Given the description of an element on the screen output the (x, y) to click on. 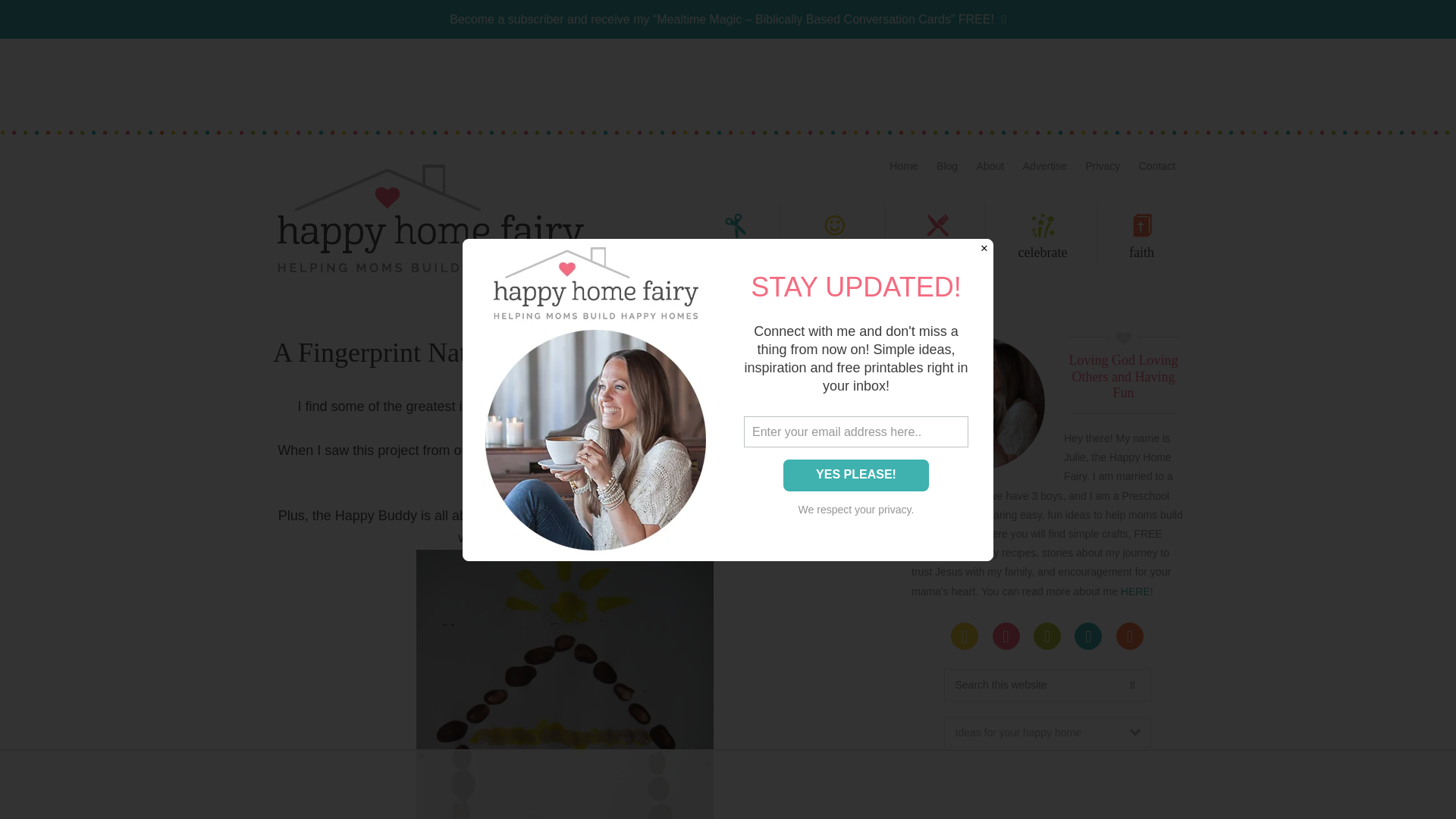
About (990, 165)
Happy Home Fairy (429, 217)
Blog (946, 165)
Home (903, 165)
freebies (834, 238)
Privacy (1101, 165)
Contact (1156, 165)
YES PLEASE! (855, 474)
celebrate (1042, 238)
recipes (936, 238)
Advertise (1044, 165)
